Given the description of an element on the screen output the (x, y) to click on. 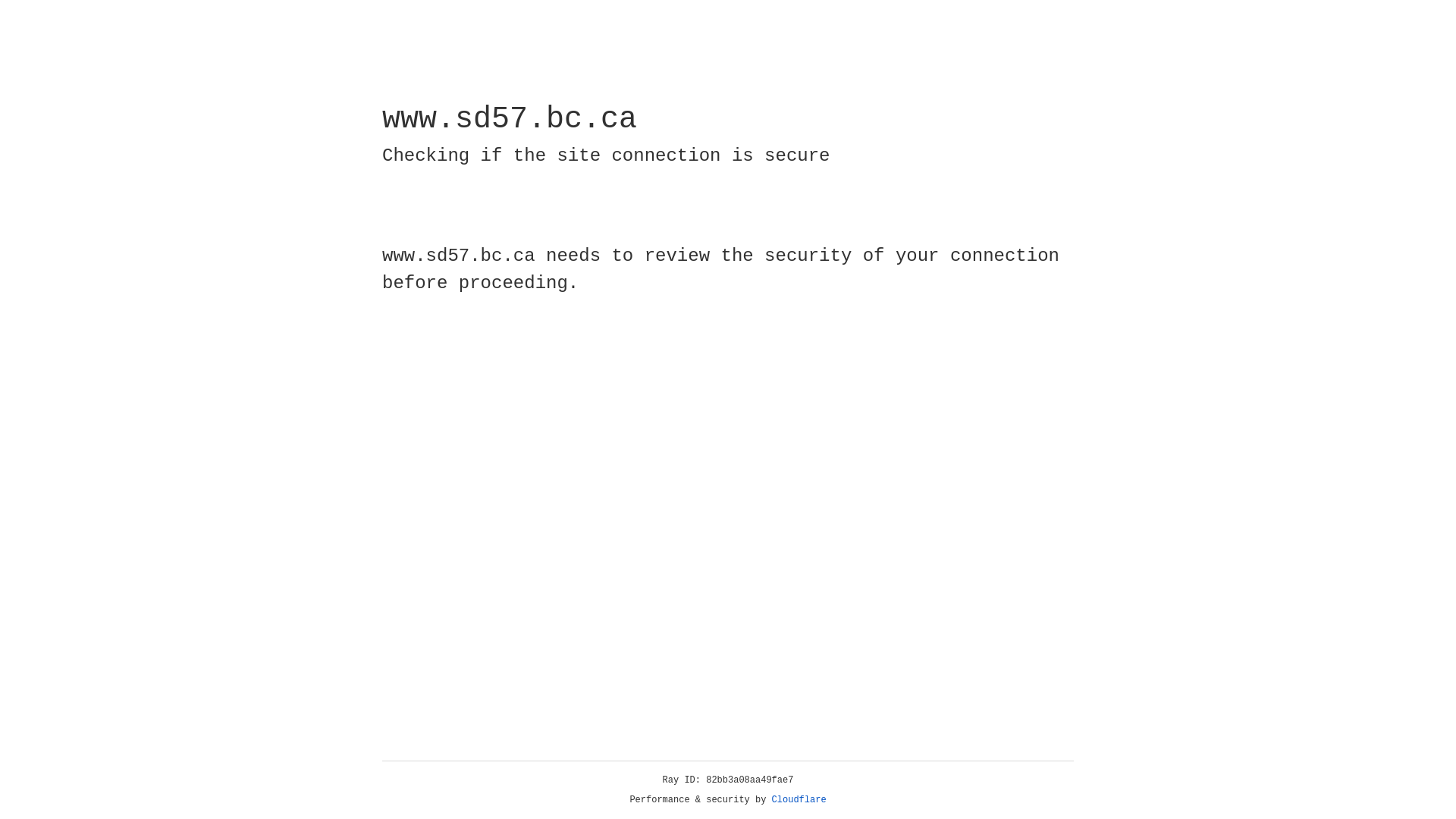
Cloudflare Element type: text (798, 799)
